Given the description of an element on the screen output the (x, y) to click on. 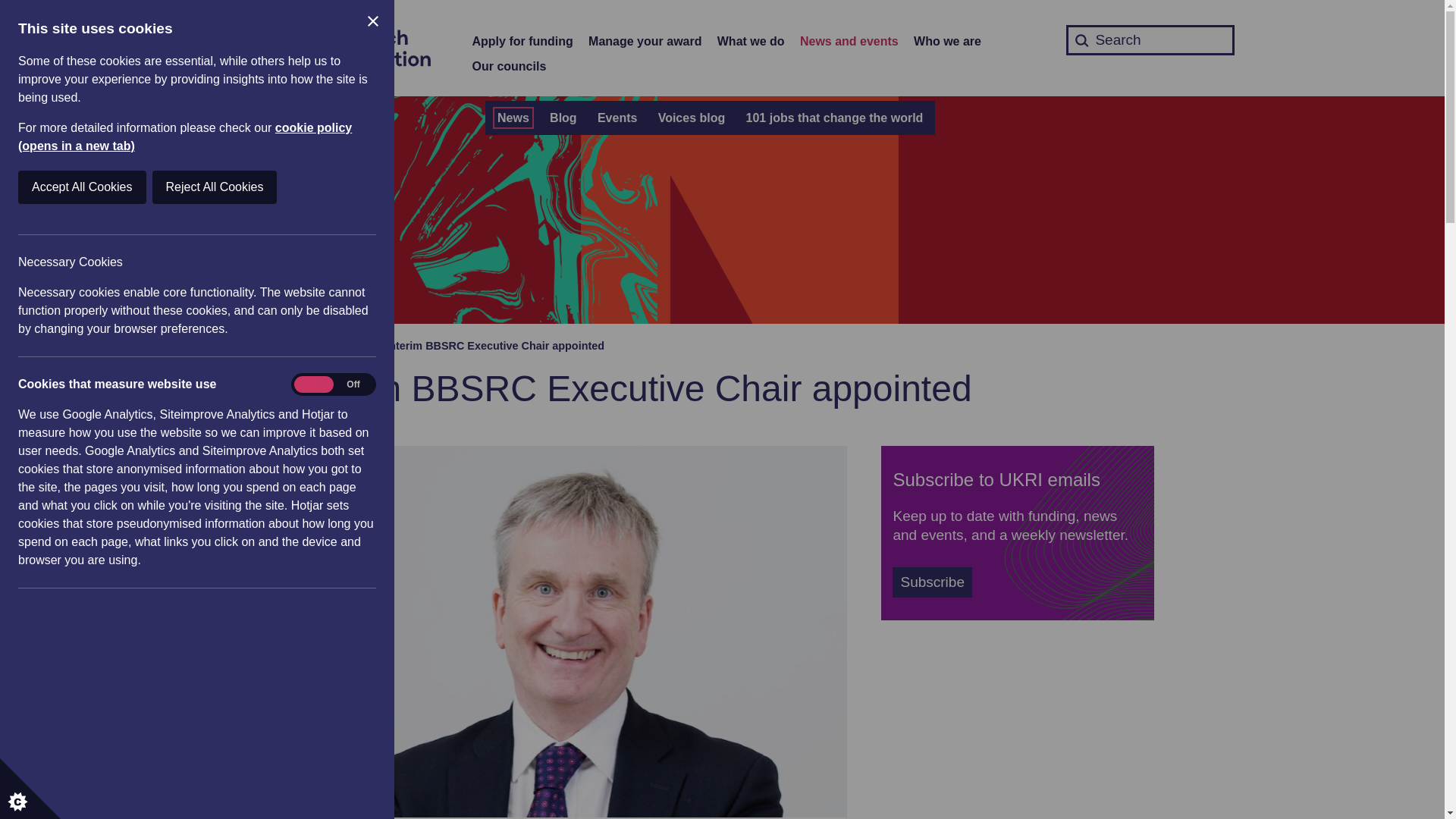
Who we are (947, 41)
What we do (750, 41)
Manage your award (644, 41)
Skip to main content (11, 7)
Our councils (508, 66)
News and events (848, 41)
Reject All Cookies (73, 186)
on (333, 384)
Apply for funding (521, 41)
